Given the description of an element on the screen output the (x, y) to click on. 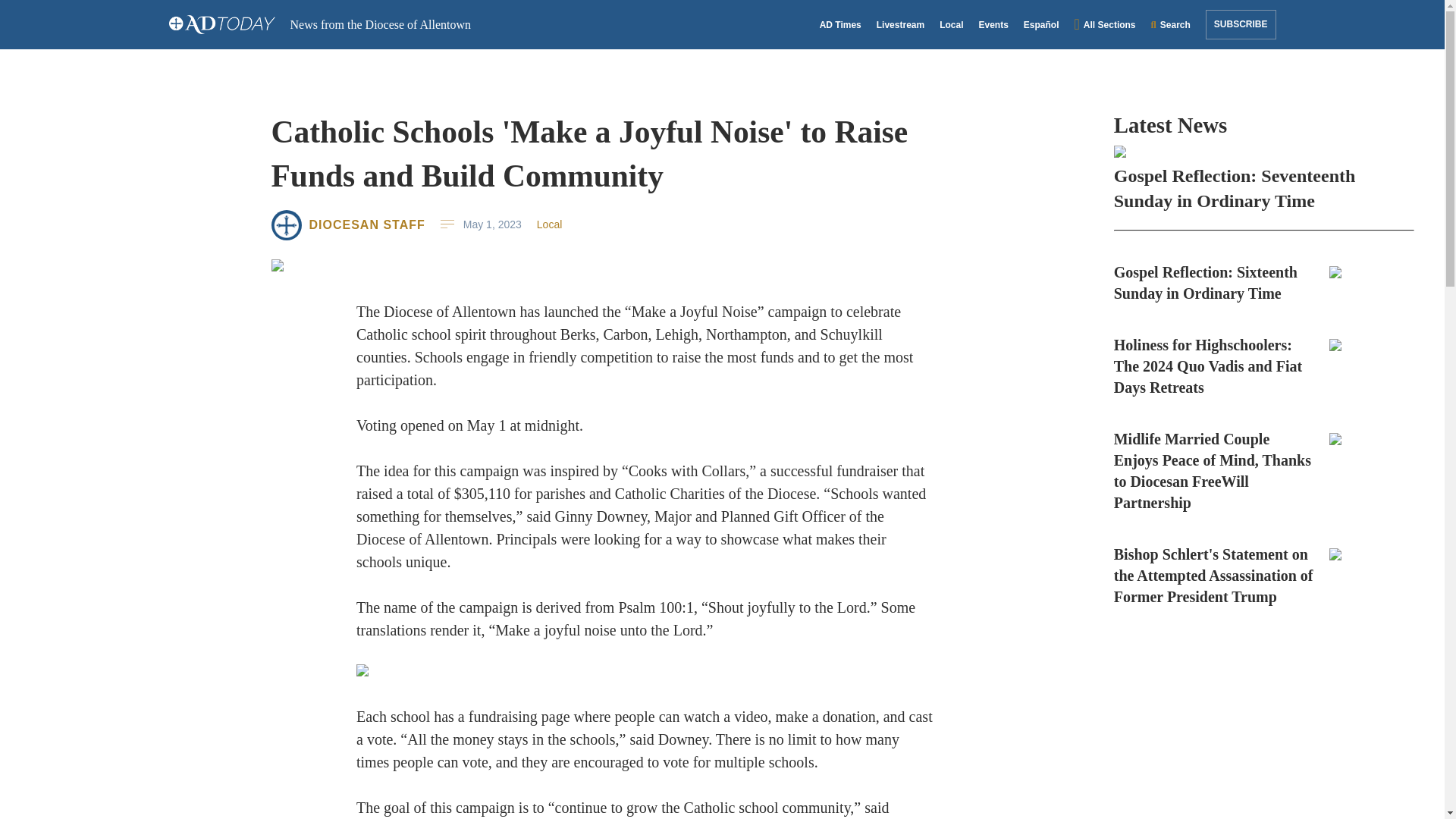
Livestream (900, 24)
Search (1170, 24)
SUBSCRIBE (1240, 24)
Local (549, 224)
AD Times (840, 24)
All Sections (1104, 24)
Local (951, 24)
DIOCESAN STAFF (366, 225)
Gospel Reflection: Sixteenth Sunday in Ordinary Time (1263, 282)
Events (992, 24)
Gospel Reflection: Seventeenth Sunday in Ordinary Time (1263, 179)
